Given the description of an element on the screen output the (x, y) to click on. 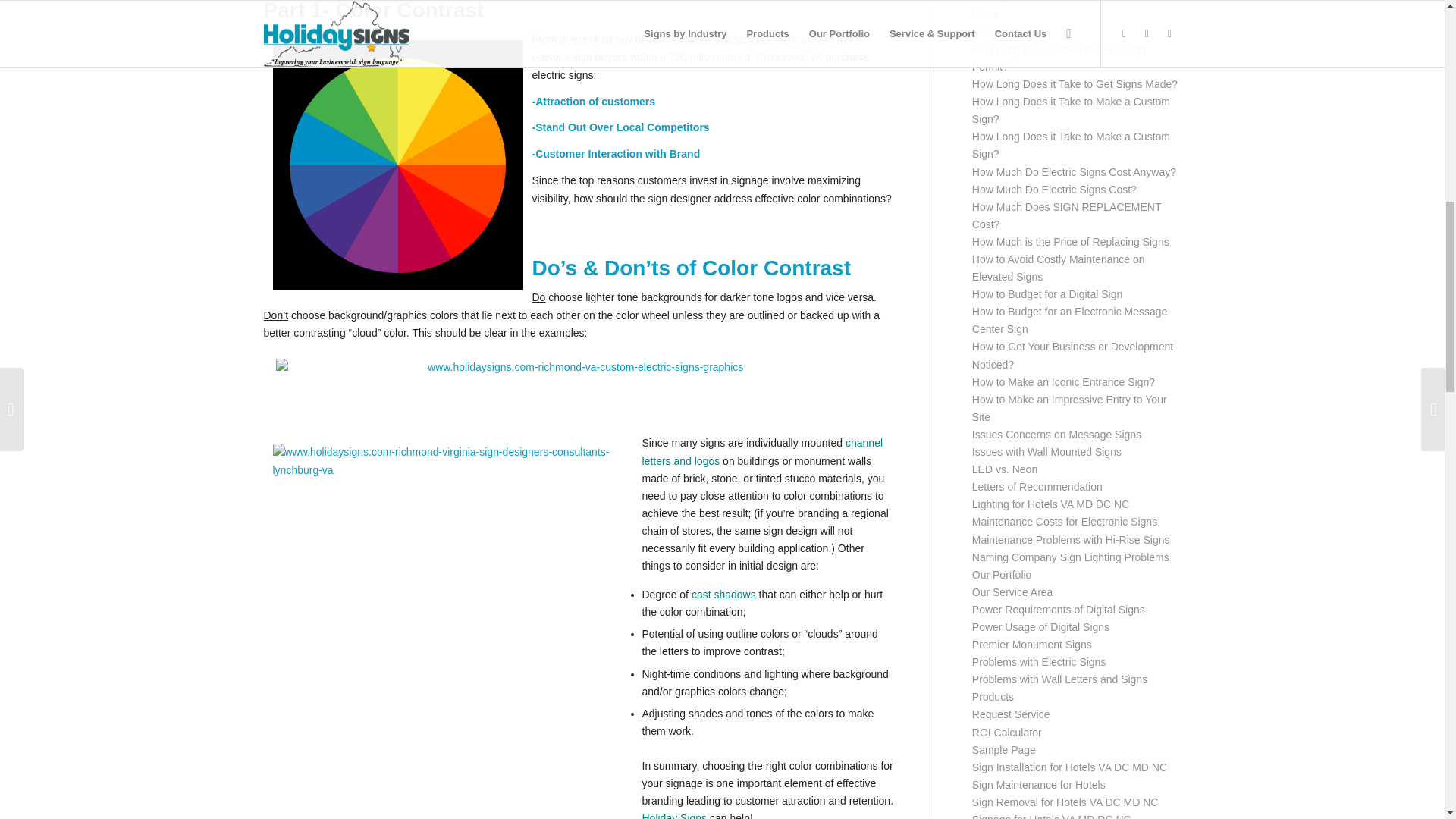
Service Area (745, 56)
channel letters and logos (762, 451)
Holiday Signs Website (674, 815)
150-mile radius of Richmond, VA (745, 56)
Effects of Shadows on Channel Letters (723, 594)
cast shadows (723, 594)
Holiday Signs (674, 815)
Effective Channel letters (762, 451)
